Given the description of an element on the screen output the (x, y) to click on. 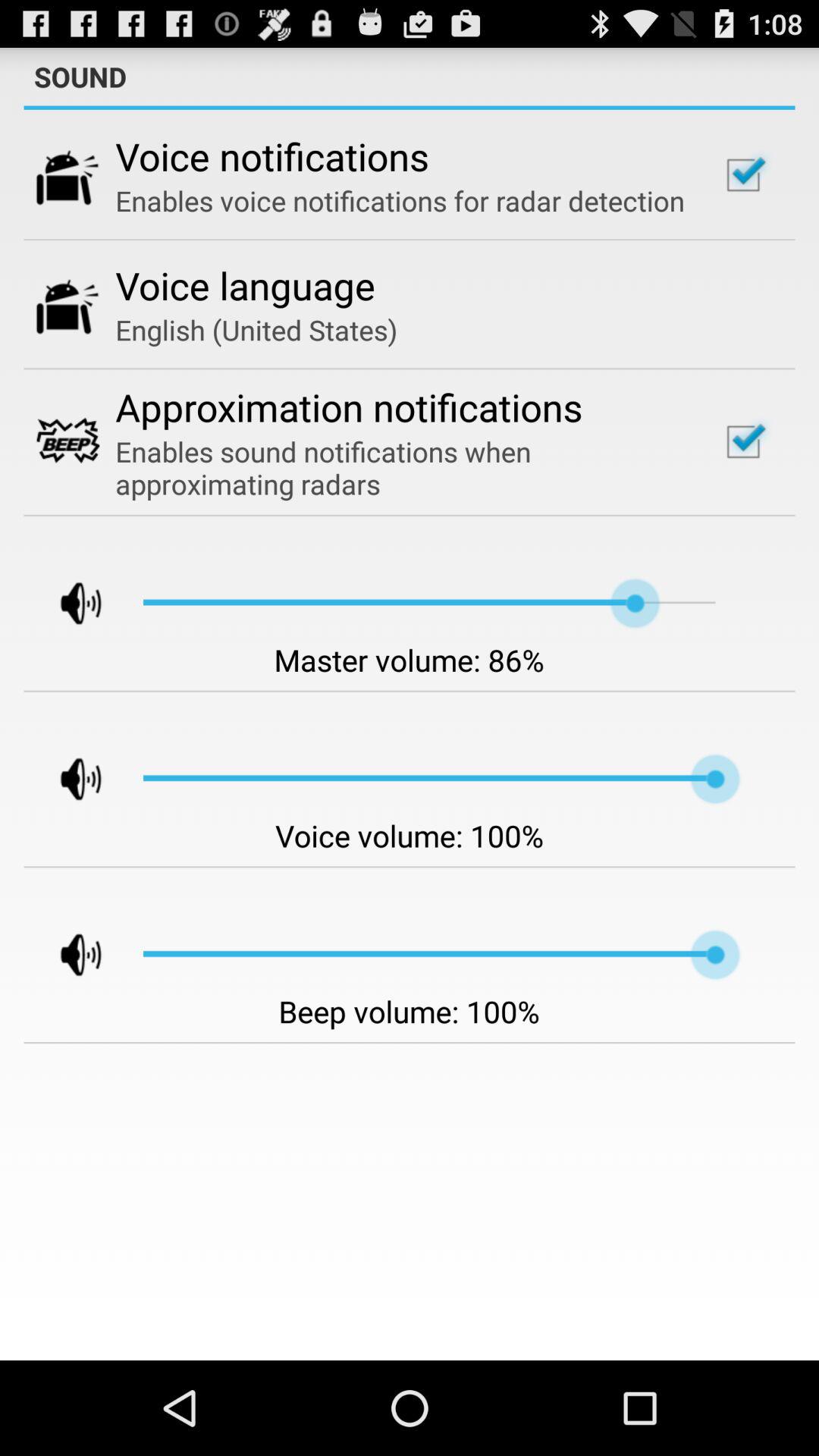
jump until voice language item (245, 285)
